Given the description of an element on the screen output the (x, y) to click on. 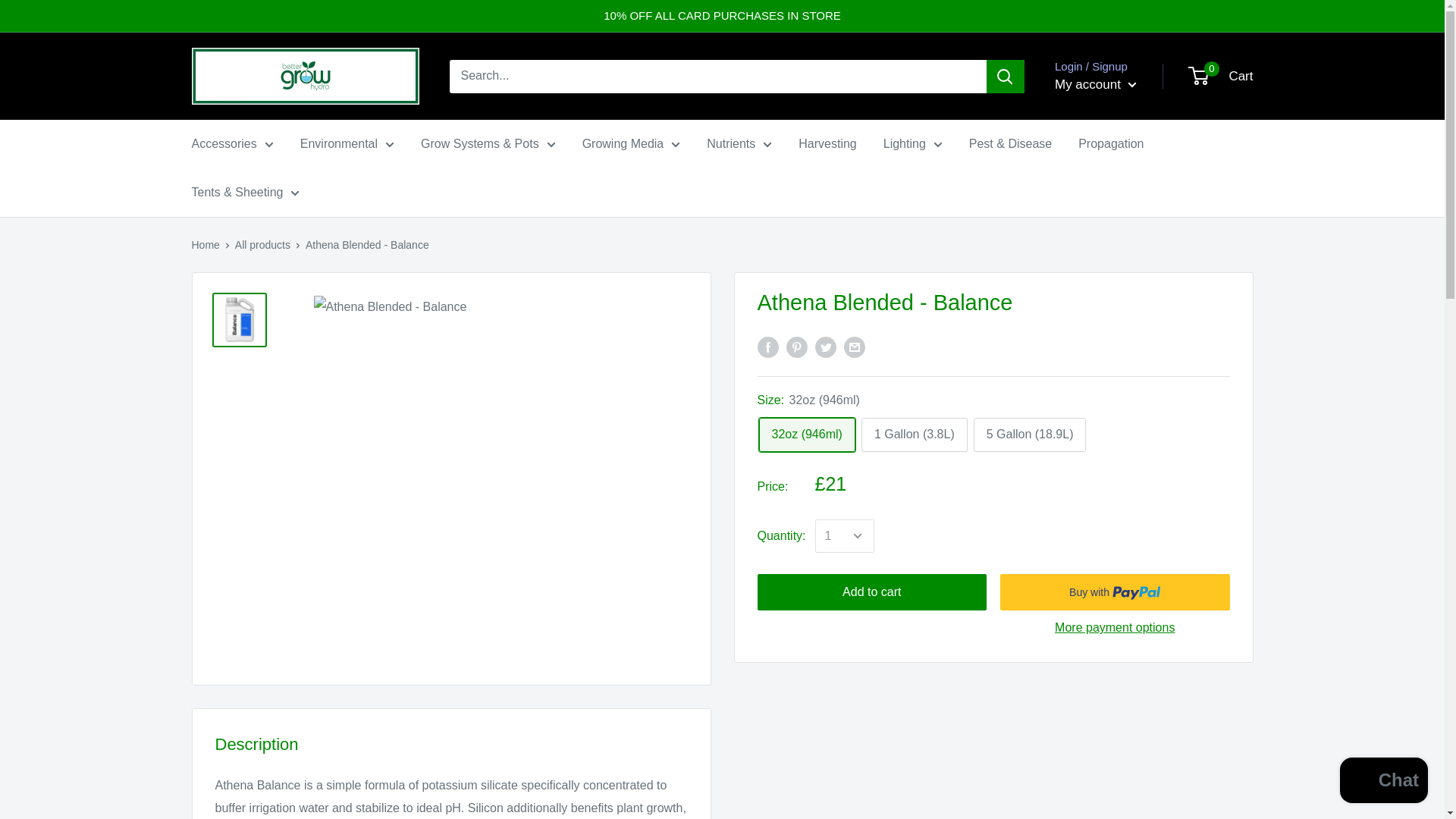
Shopify online store chat (1383, 781)
